Given the description of an element on the screen output the (x, y) to click on. 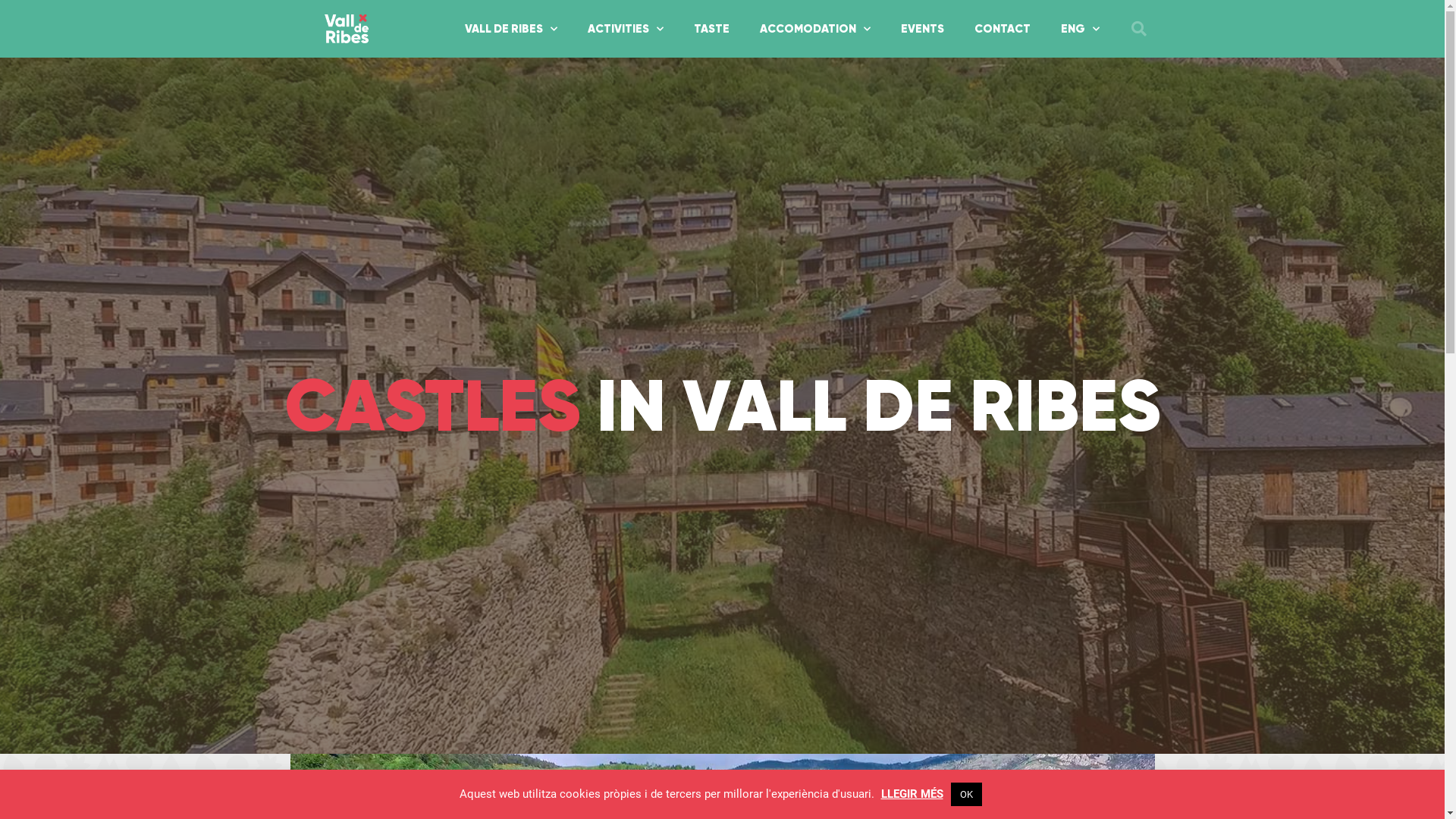
OK Element type: text (966, 794)
TASTE Element type: text (711, 28)
VALL DE RIBES Element type: text (510, 28)
CONTACT Element type: text (1002, 28)
ENG Element type: text (1079, 28)
ACTIVITIES Element type: text (625, 28)
EVENTS Element type: text (922, 28)
ACCOMODATION Element type: text (814, 28)
